Given the description of an element on the screen output the (x, y) to click on. 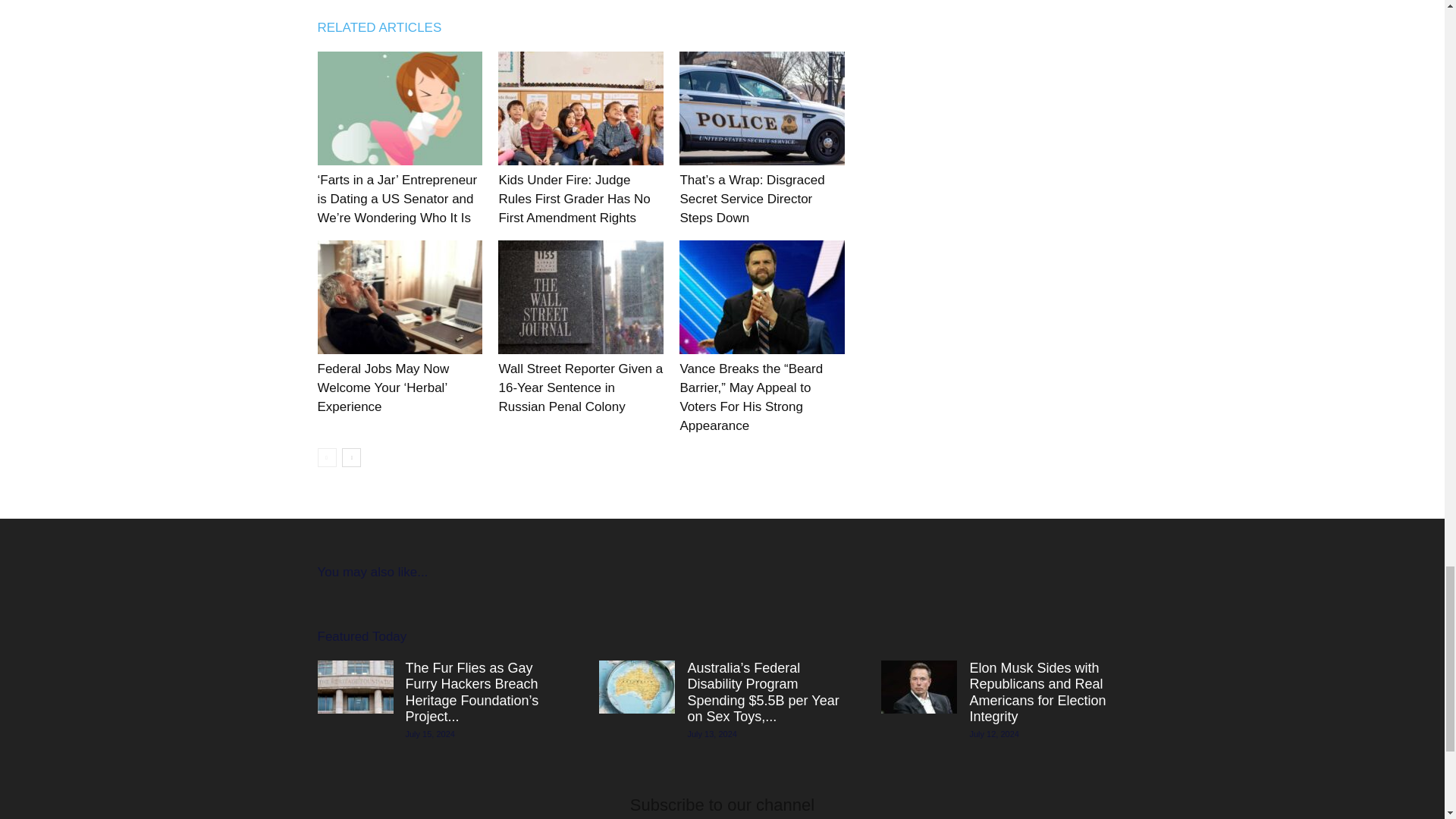
RELATED ARTICLES (387, 27)
